Given the description of an element on the screen output the (x, y) to click on. 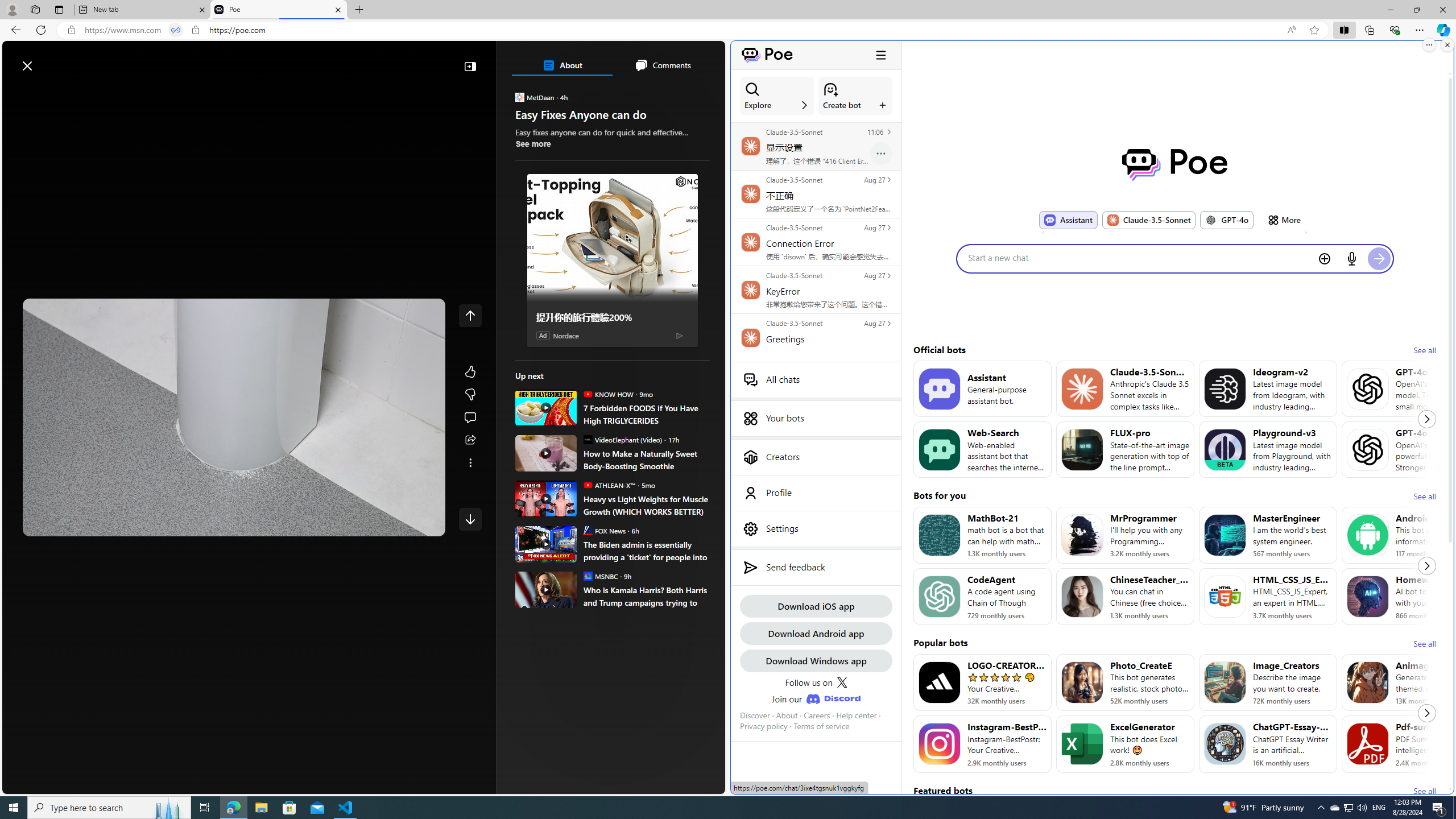
Comments (662, 64)
Progress Bar (234, 508)
Download Windows app (815, 660)
Class: ManageBotsCardSection_searchIcon__laGLi (752, 89)
Bot image for GPT-4o GPT-4o (1226, 219)
About (786, 714)
Bot image for Claude-3.5-Sonnet Claude-3.5-Sonnet (1148, 219)
